Given the description of an element on the screen output the (x, y) to click on. 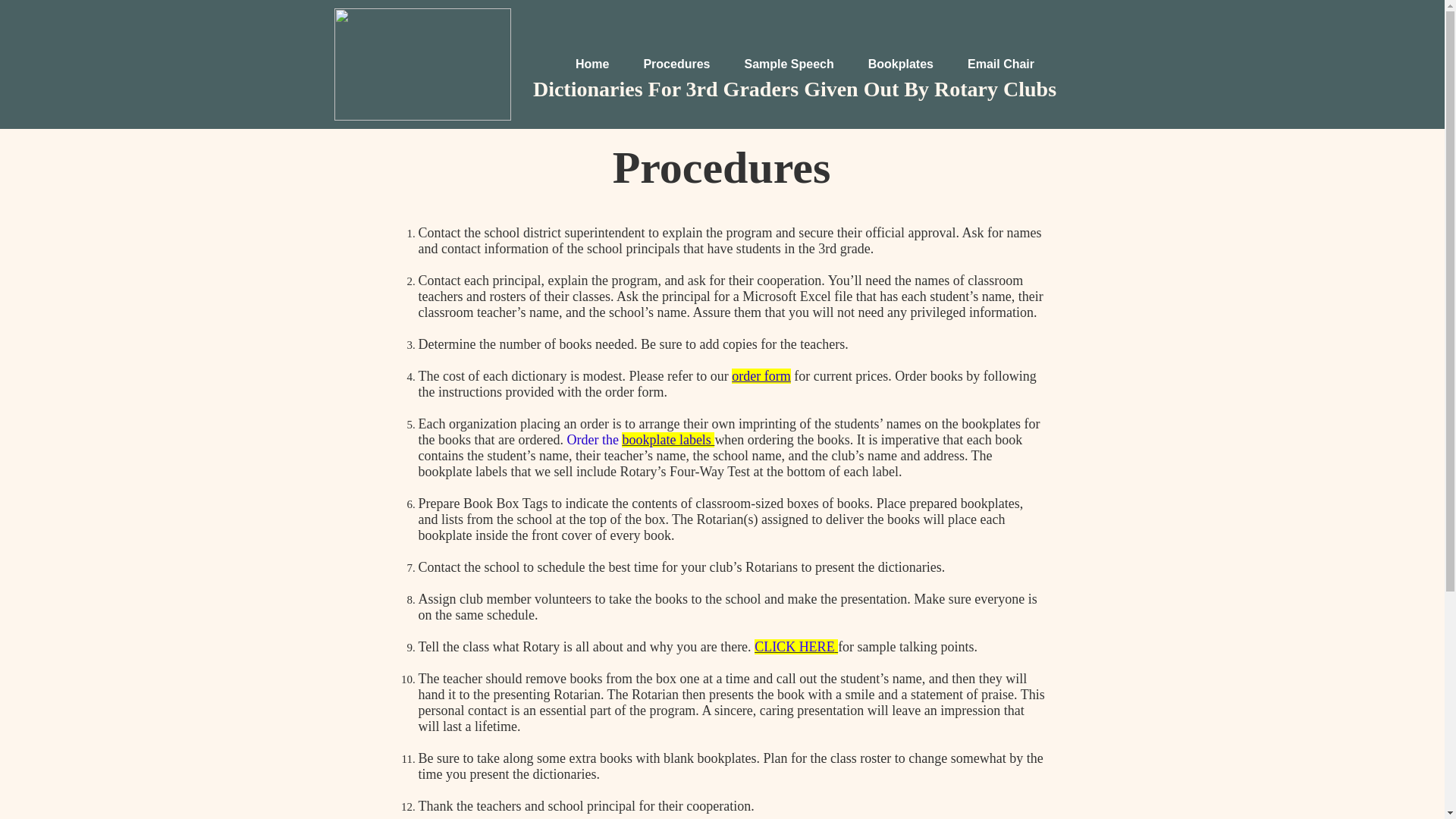
Order the (593, 439)
CLICK HERE (794, 646)
bookplate labels (665, 439)
Bookplates (901, 63)
Home (592, 63)
Procedures (676, 63)
Sample Speech (788, 63)
order form (761, 376)
Email Chair (1000, 63)
